Given the description of an element on the screen output the (x, y) to click on. 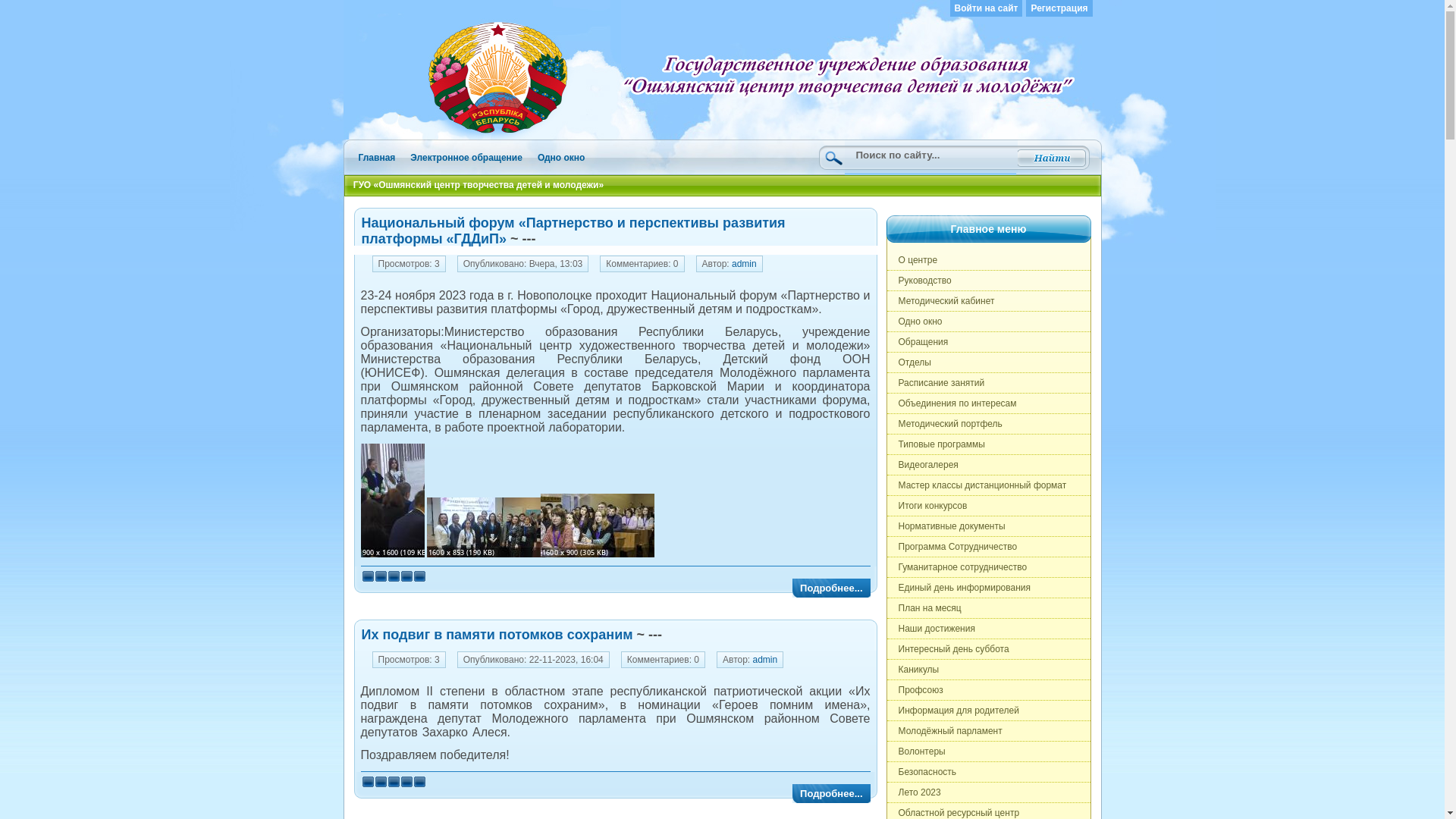
admin Element type: text (765, 659)
admin Element type: text (743, 263)
